Given the description of an element on the screen output the (x, y) to click on. 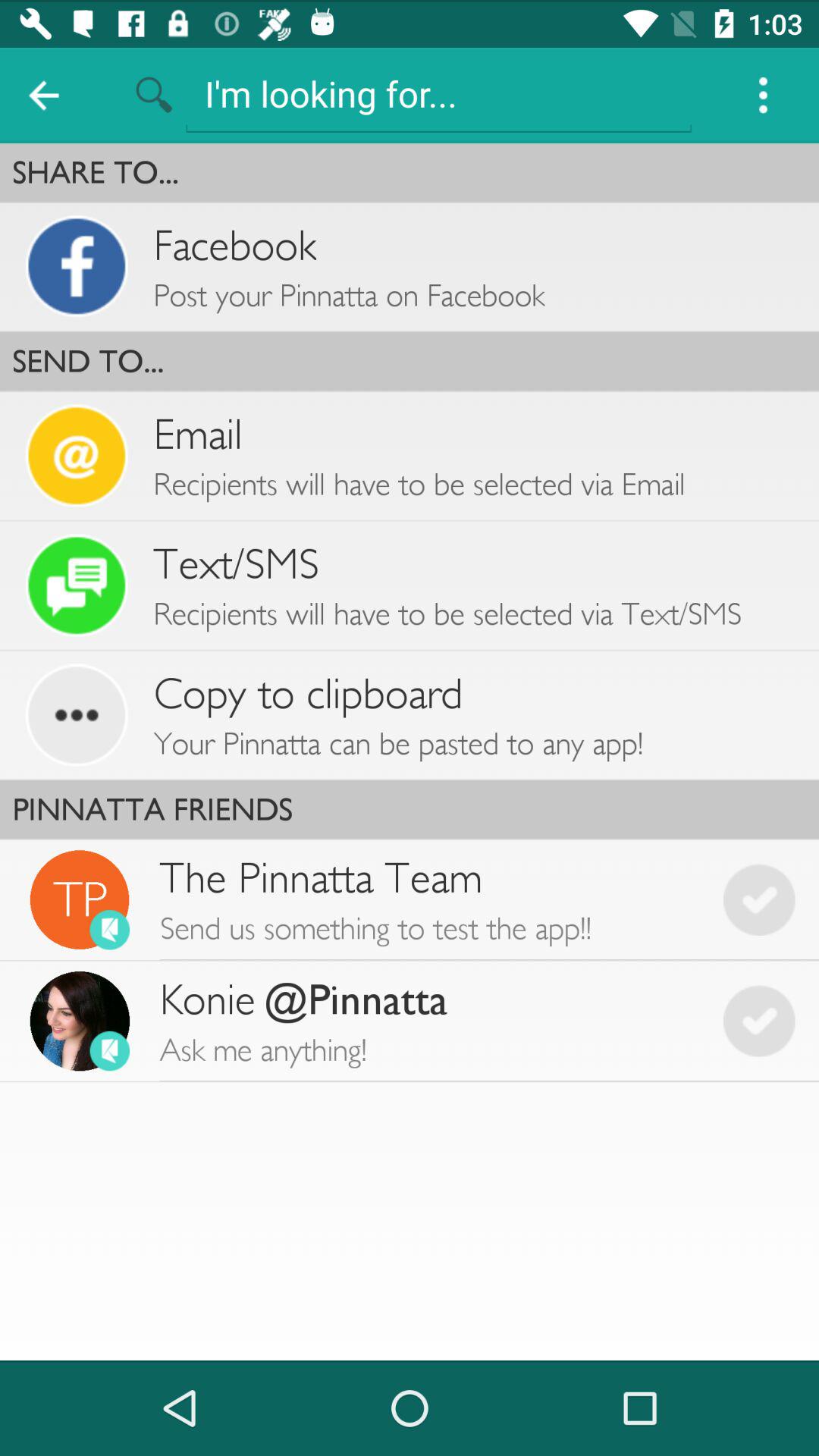
turn on the item at the top right corner (763, 95)
